Given the description of an element on the screen output the (x, y) to click on. 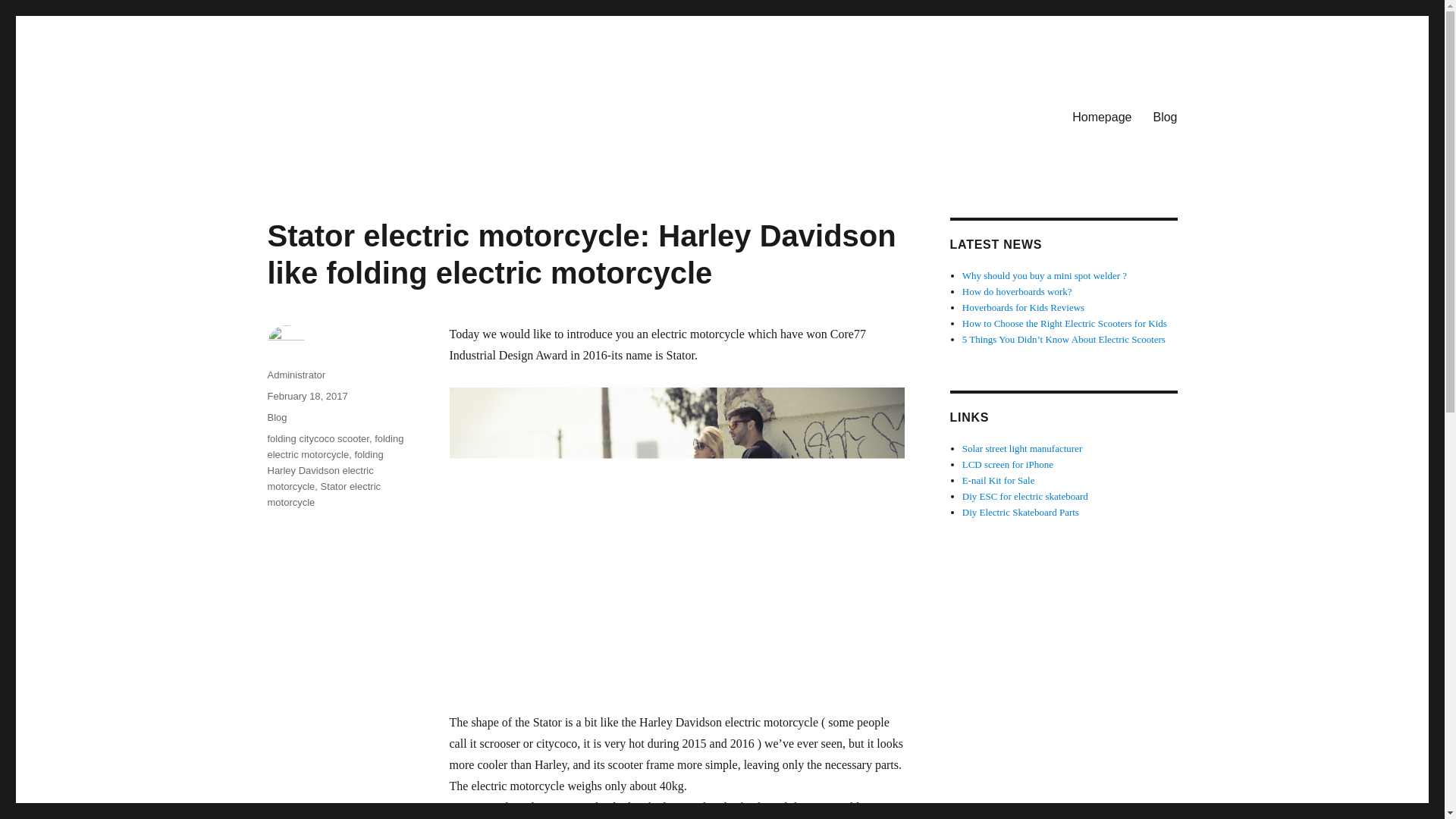
LCD screen for iPhone (1007, 464)
Stator electric motorcycle (323, 493)
Blog (1164, 116)
folding electric motorcycle (334, 446)
How to Choose the Right Electric Scooters for Kids (1064, 323)
folding citycoco scooter (317, 438)
Hoverboards for Kids Reviews (1023, 307)
E-nail Kit for Sale (998, 480)
folding Harley Davidson electric motorcycle (324, 470)
Blog (276, 417)
